Given the description of an element on the screen output the (x, y) to click on. 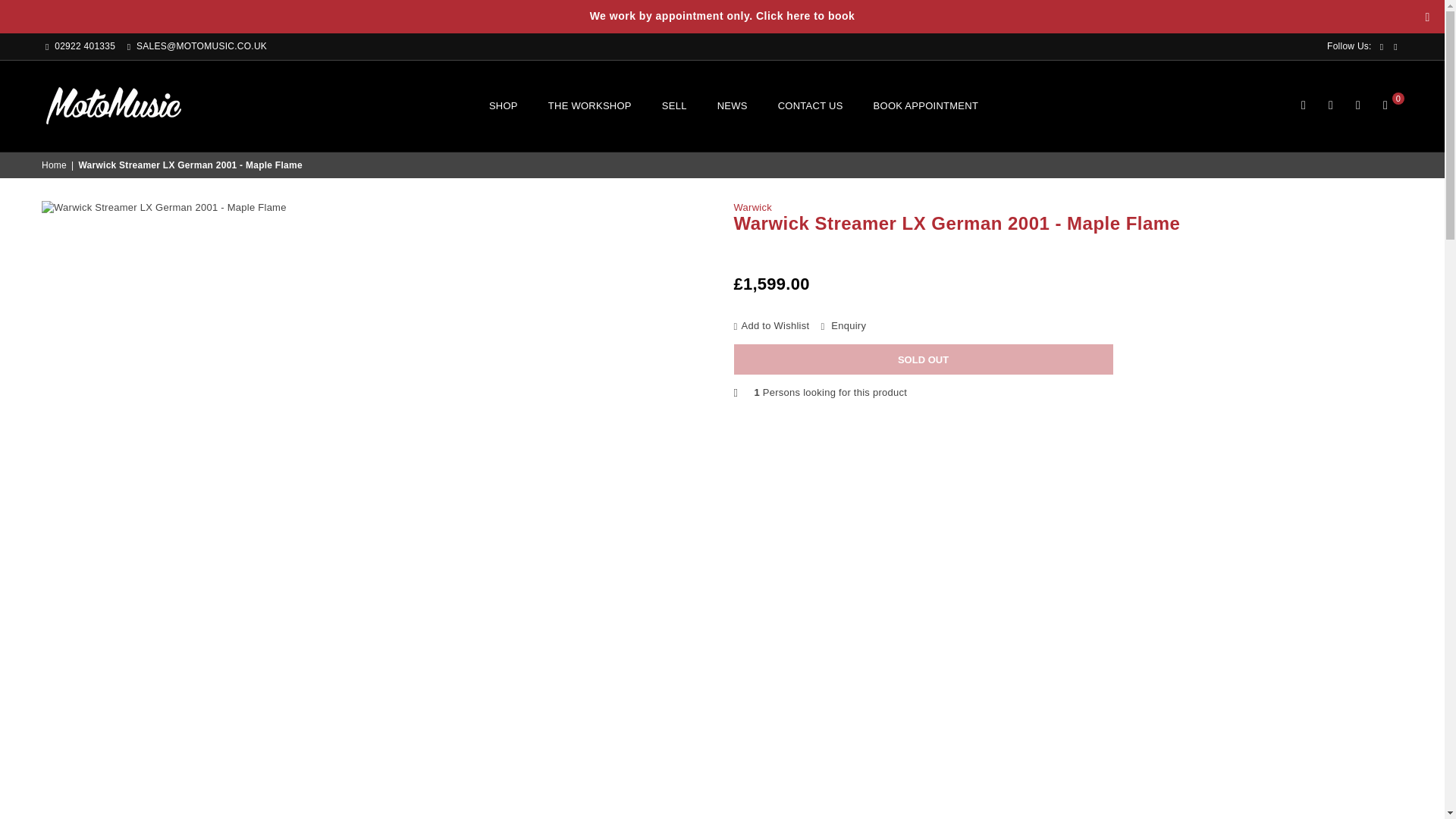
Facebook (1381, 46)
Instagram (1396, 46)
SELL (674, 105)
CONTACT US (810, 105)
THE WORKSHOP (590, 105)
Back to the home page (55, 164)
MotoMusic on Instagram (1396, 46)
Wishlist (1357, 106)
NEWS (732, 105)
SHOP (503, 105)
Warwick (752, 206)
0 (1385, 106)
BOOK APPOINTMENT (925, 105)
Search (1303, 106)
Settings (1330, 106)
